Given the description of an element on the screen output the (x, y) to click on. 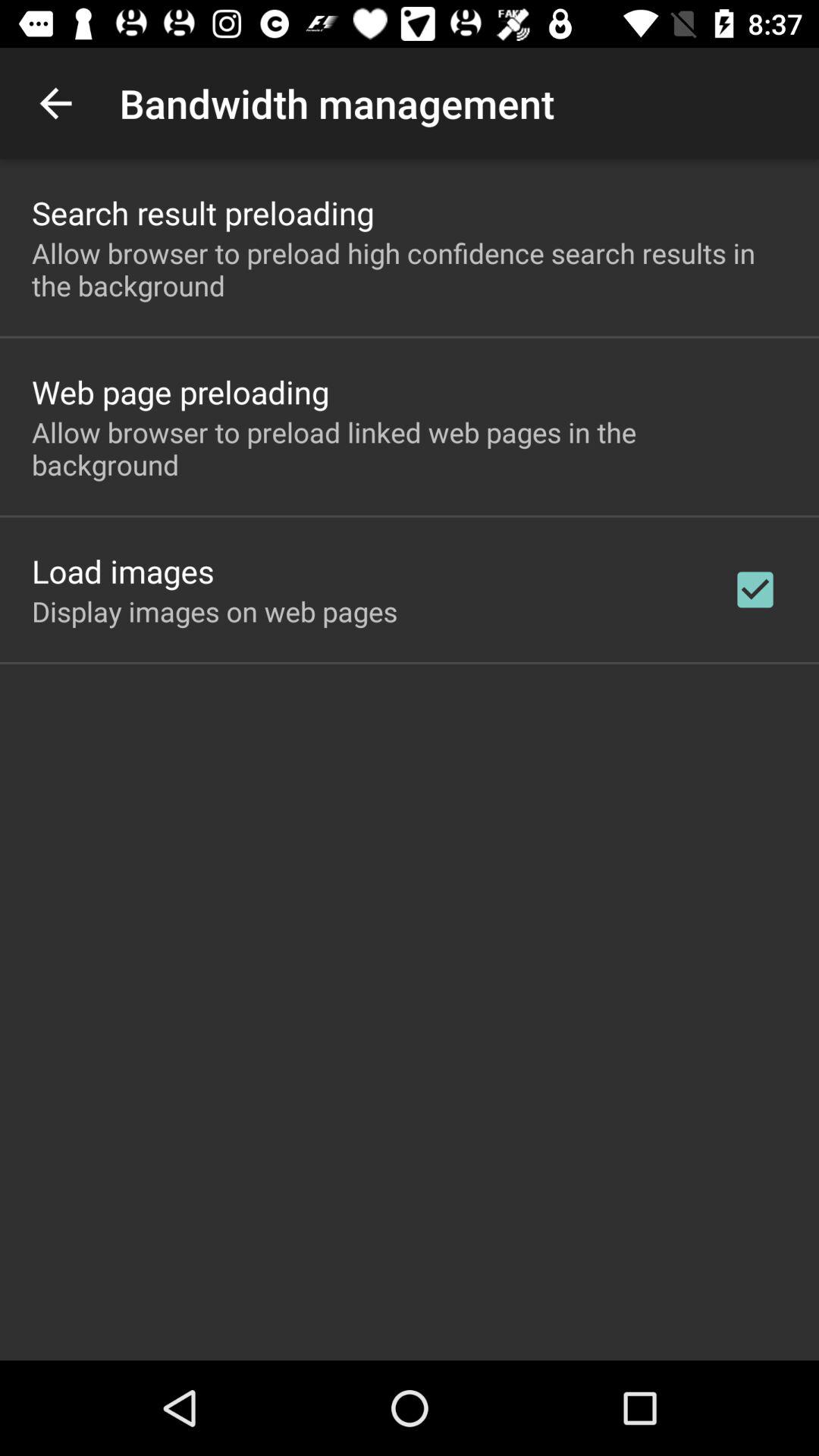
click the item below the allow browser to icon (122, 570)
